Given the description of an element on the screen output the (x, y) to click on. 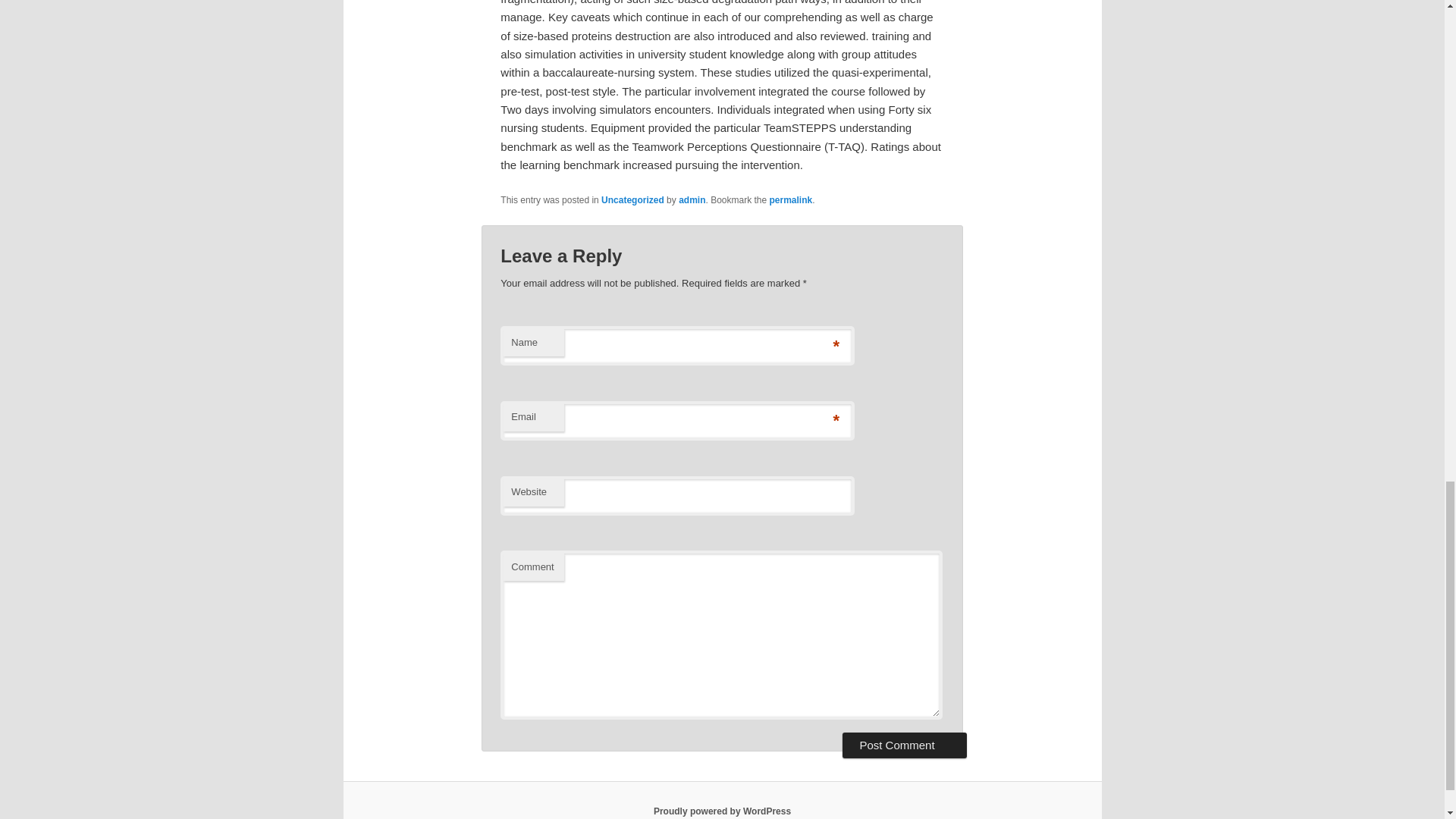
admin (691, 199)
Post Comment (904, 745)
Proudly powered by WordPress (721, 810)
Post Comment (904, 745)
View all posts in Uncategorized (632, 199)
Uncategorized (632, 199)
permalink (791, 199)
Semantic Personal Publishing Platform (721, 810)
